Given the description of an element on the screen output the (x, y) to click on. 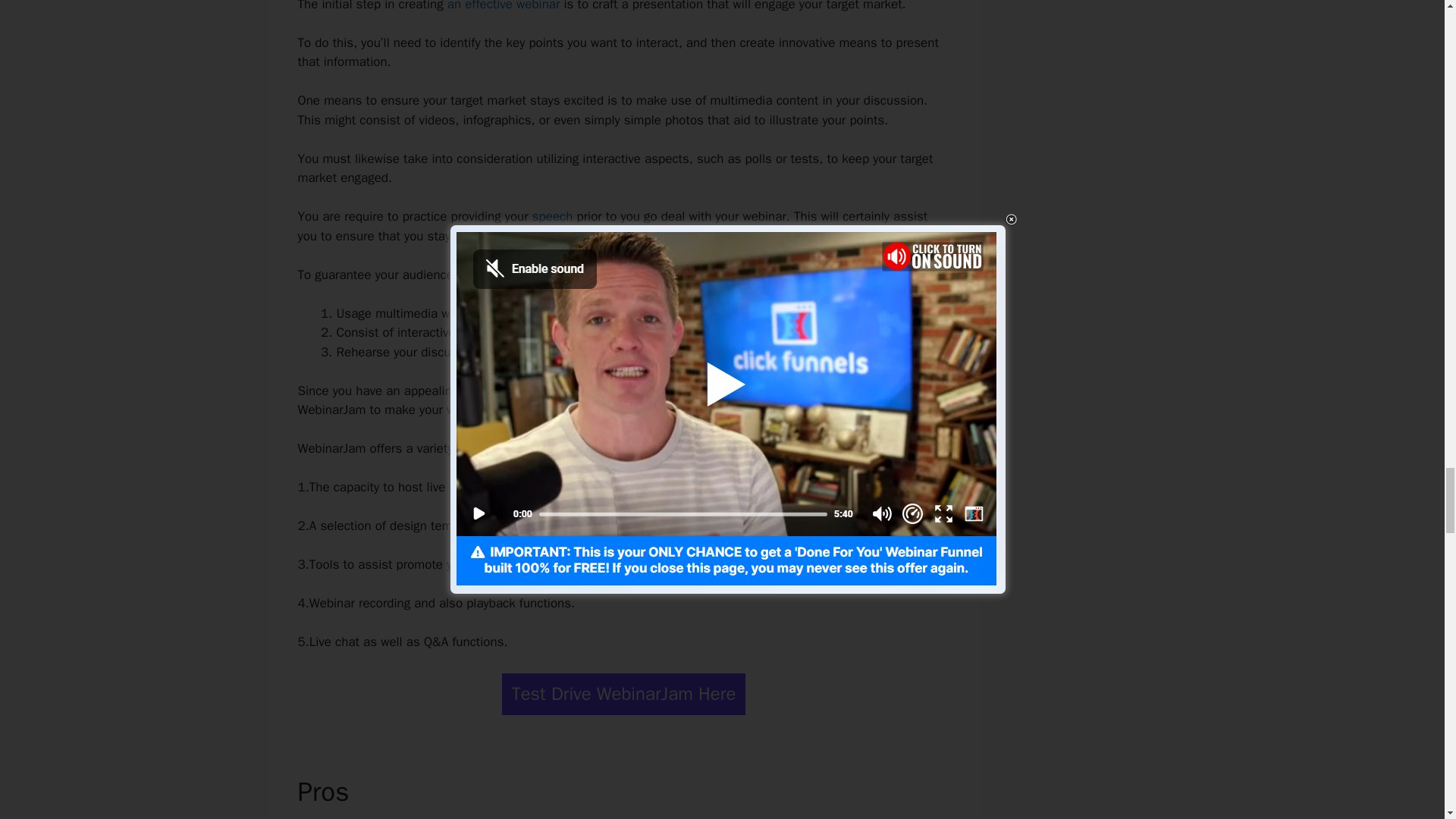
speech (552, 216)
an effective webinar (503, 6)
Test Drive WebinarJam Here (623, 693)
